Given the description of an element on the screen output the (x, y) to click on. 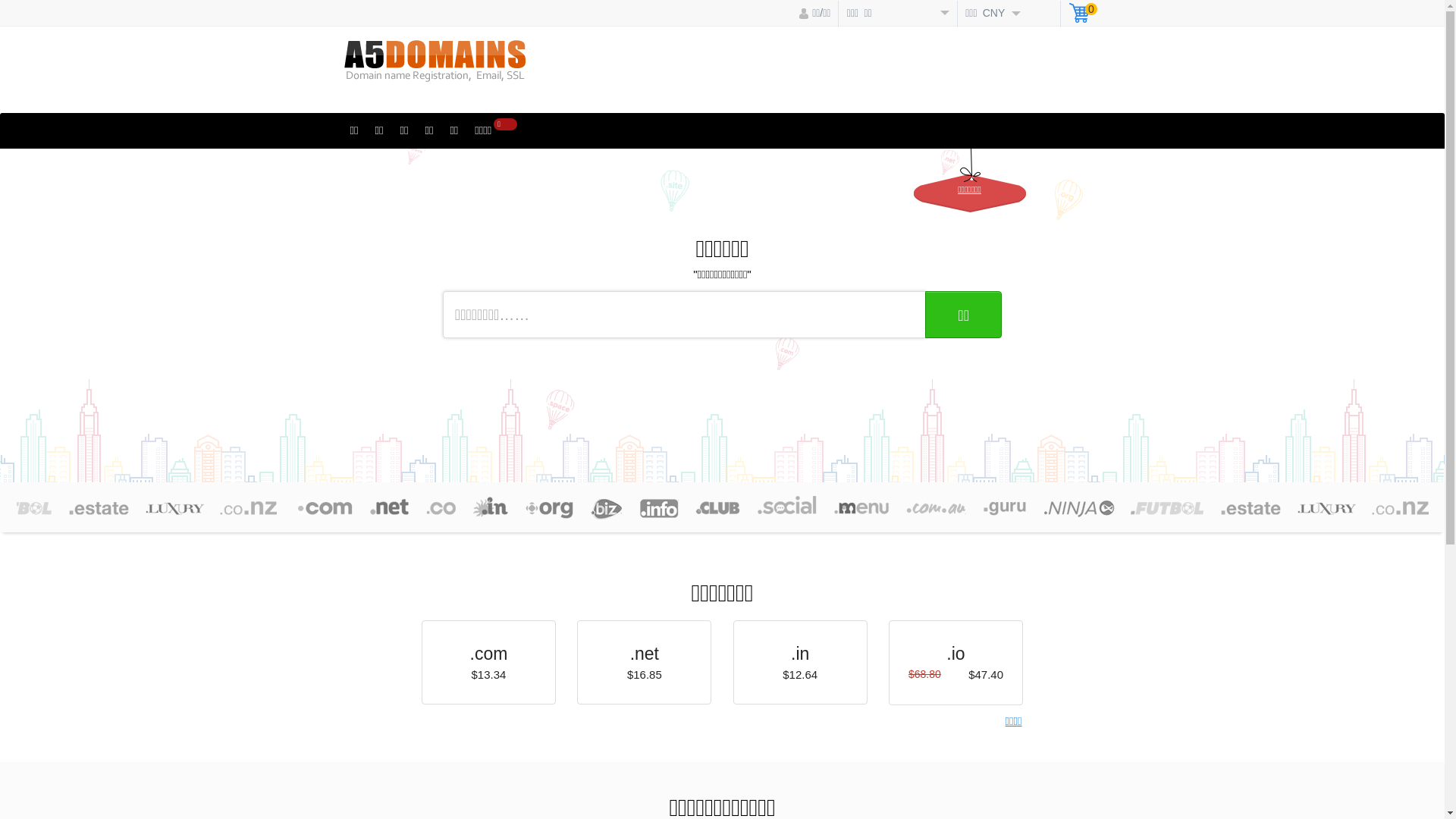
0 Element type: text (1082, 15)
